Given the description of an element on the screen output the (x, y) to click on. 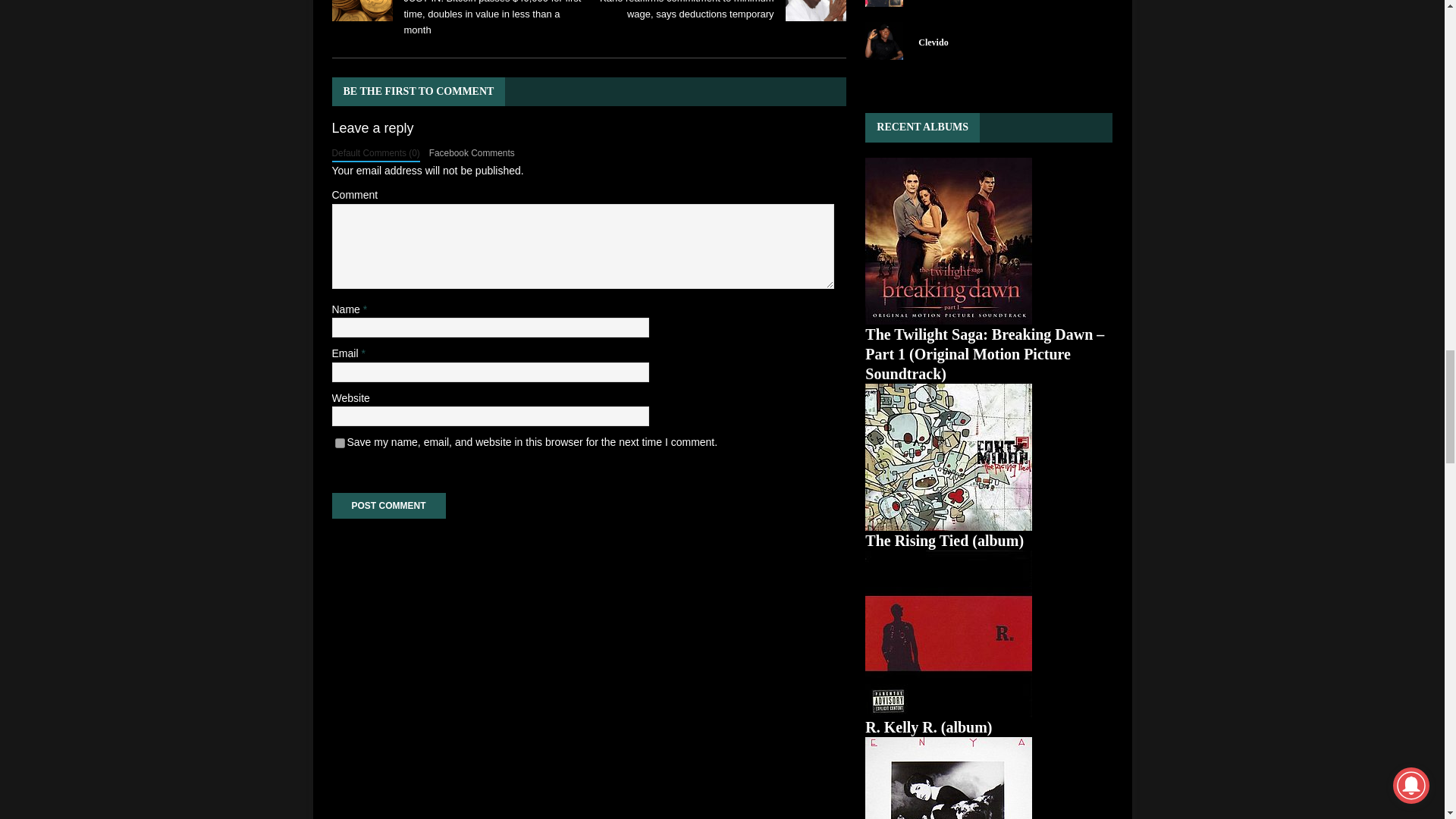
yes (339, 442)
Post Comment (388, 505)
